Given the description of an element on the screen output the (x, y) to click on. 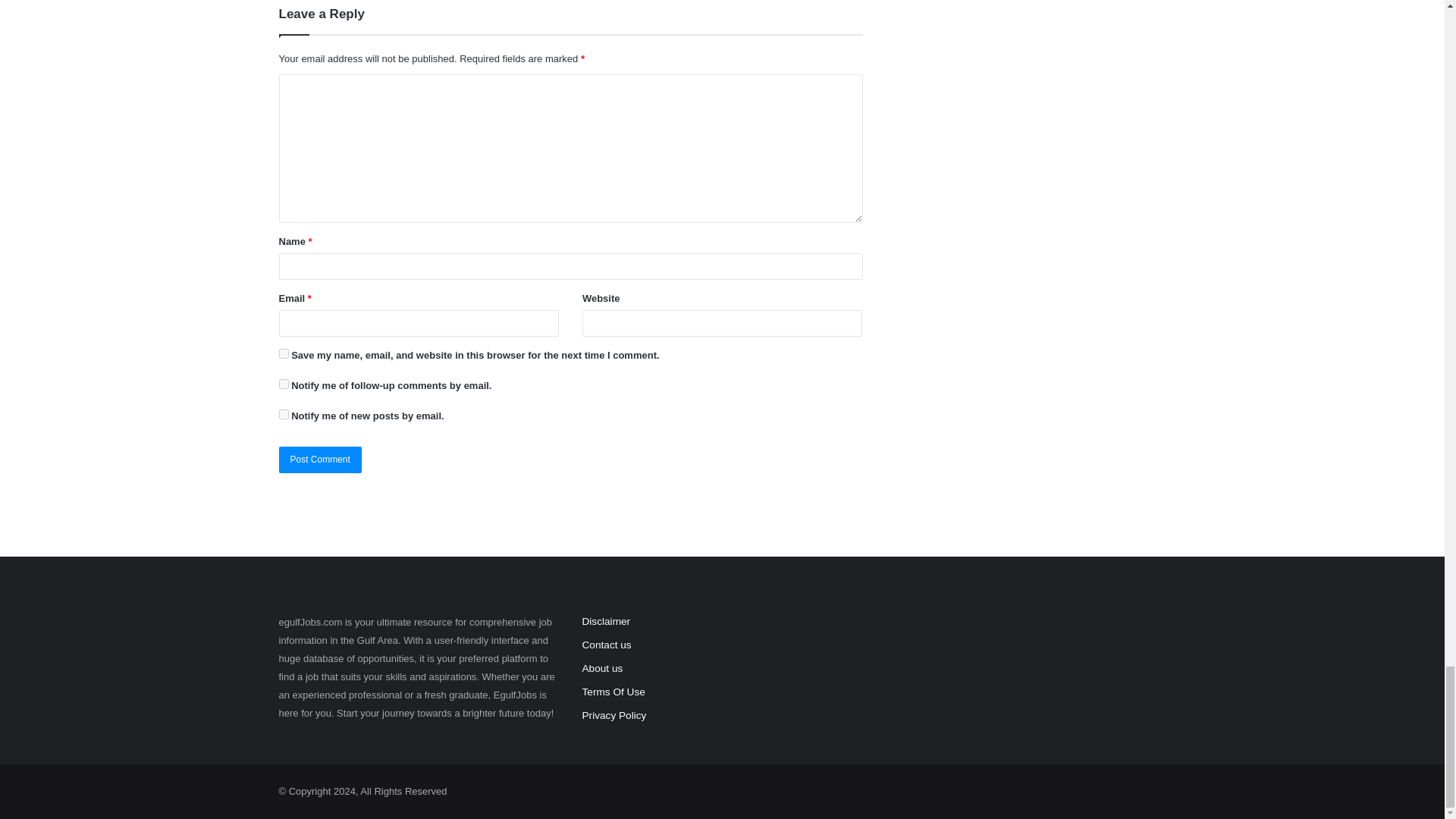
subscribe (283, 384)
yes (283, 353)
Post Comment (320, 459)
subscribe (283, 414)
